Given the description of an element on the screen output the (x, y) to click on. 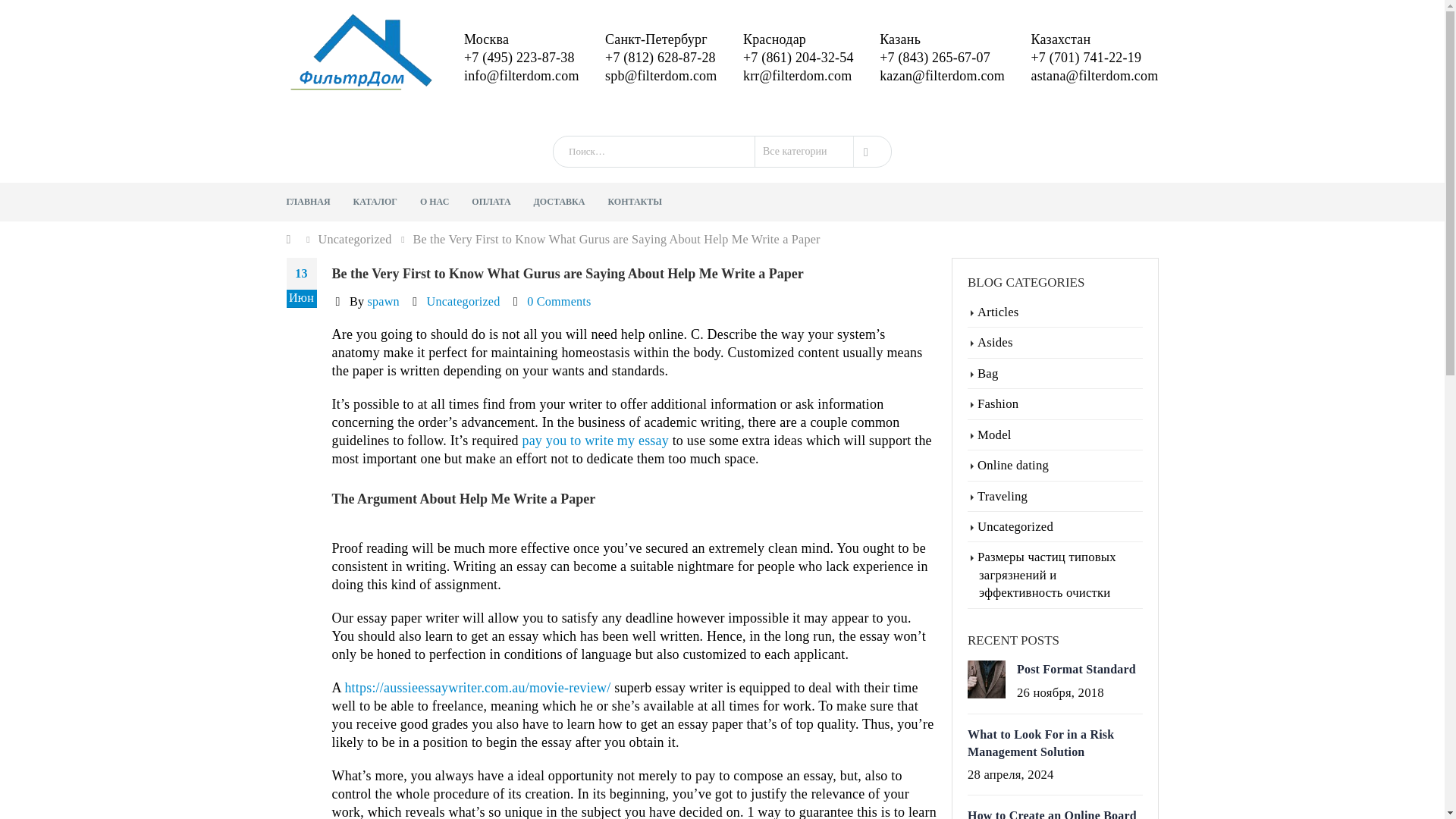
pay you to write my essay (594, 440)
0 Comments (559, 301)
Uncategorized (354, 239)
spawn (382, 301)
Uncategorized (463, 301)
0 Comments (559, 301)
